Given the description of an element on the screen output the (x, y) to click on. 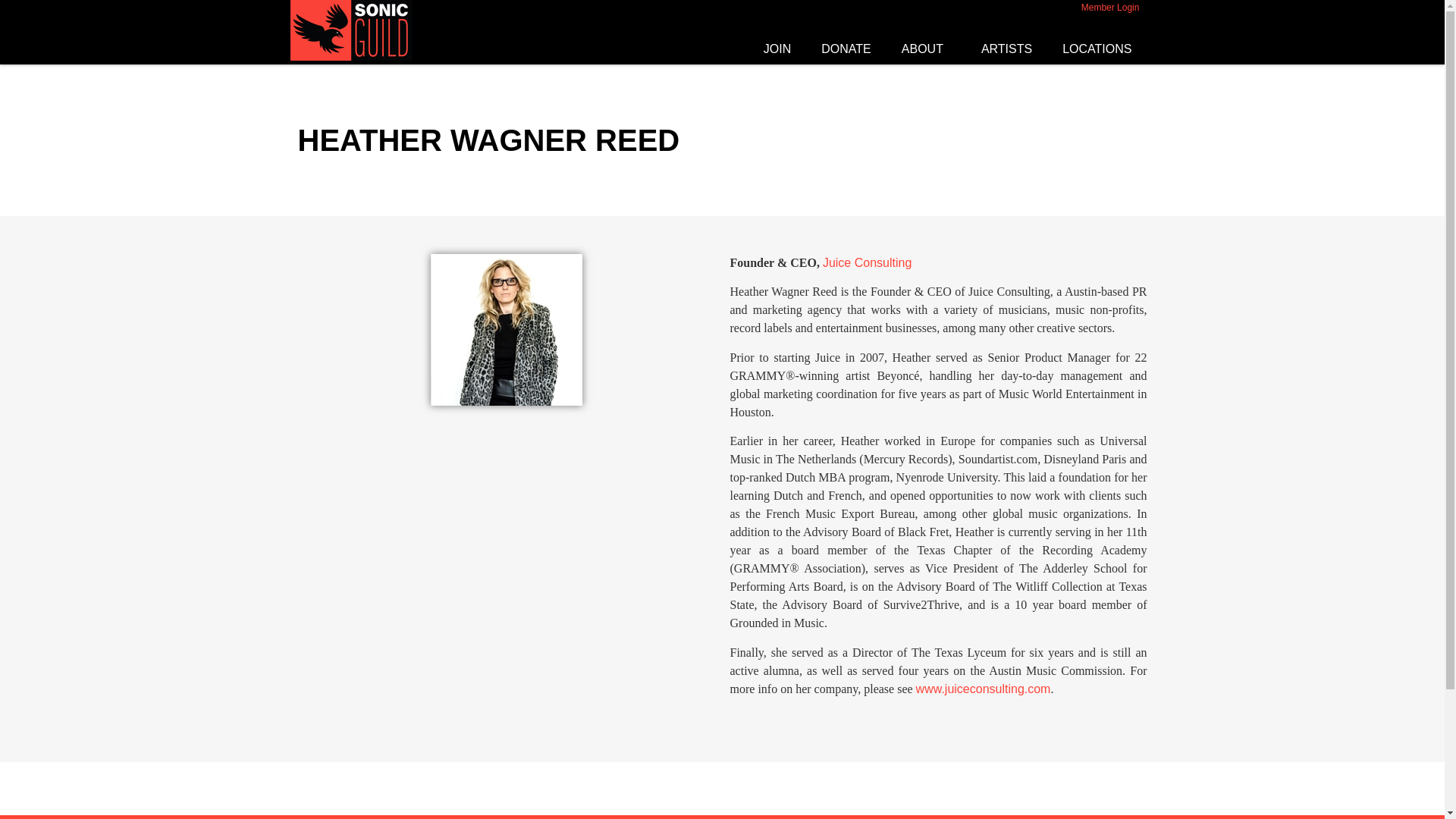
ARTISTS (1006, 48)
JOIN (777, 48)
LOCATIONS (1100, 48)
ABOUT (926, 48)
Member Login (1109, 7)
DONATE (845, 48)
